Given the description of an element on the screen output the (x, y) to click on. 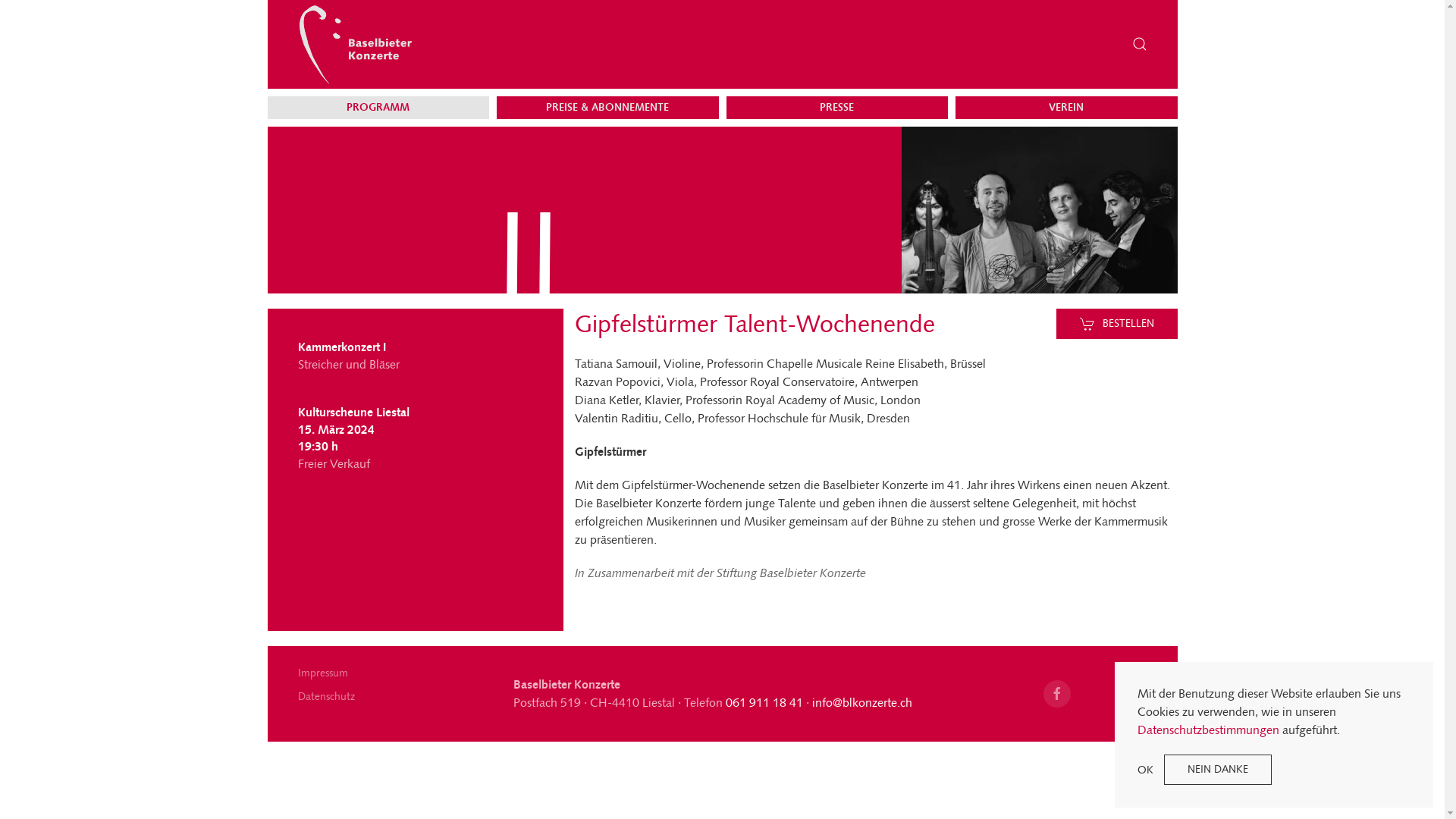
OK Element type: text (1145, 769)
061 911 18 41 Element type: text (764, 702)
NEIN DANKE Element type: text (1217, 769)
info@blkonzerte.ch Element type: text (862, 702)
PROGRAMM Element type: text (378, 107)
BESTELLEN Element type: text (1116, 323)
PRESSE Element type: text (836, 107)
Impressum Element type: text (399, 672)
Datenschutzbestimmungen Element type: text (1208, 729)
  Element type: text (399, 717)
PREISE & ABONNEMENTE Element type: text (607, 107)
Datenschutz Element type: text (399, 696)
VEREIN Element type: text (1066, 107)
